Given the description of an element on the screen output the (x, y) to click on. 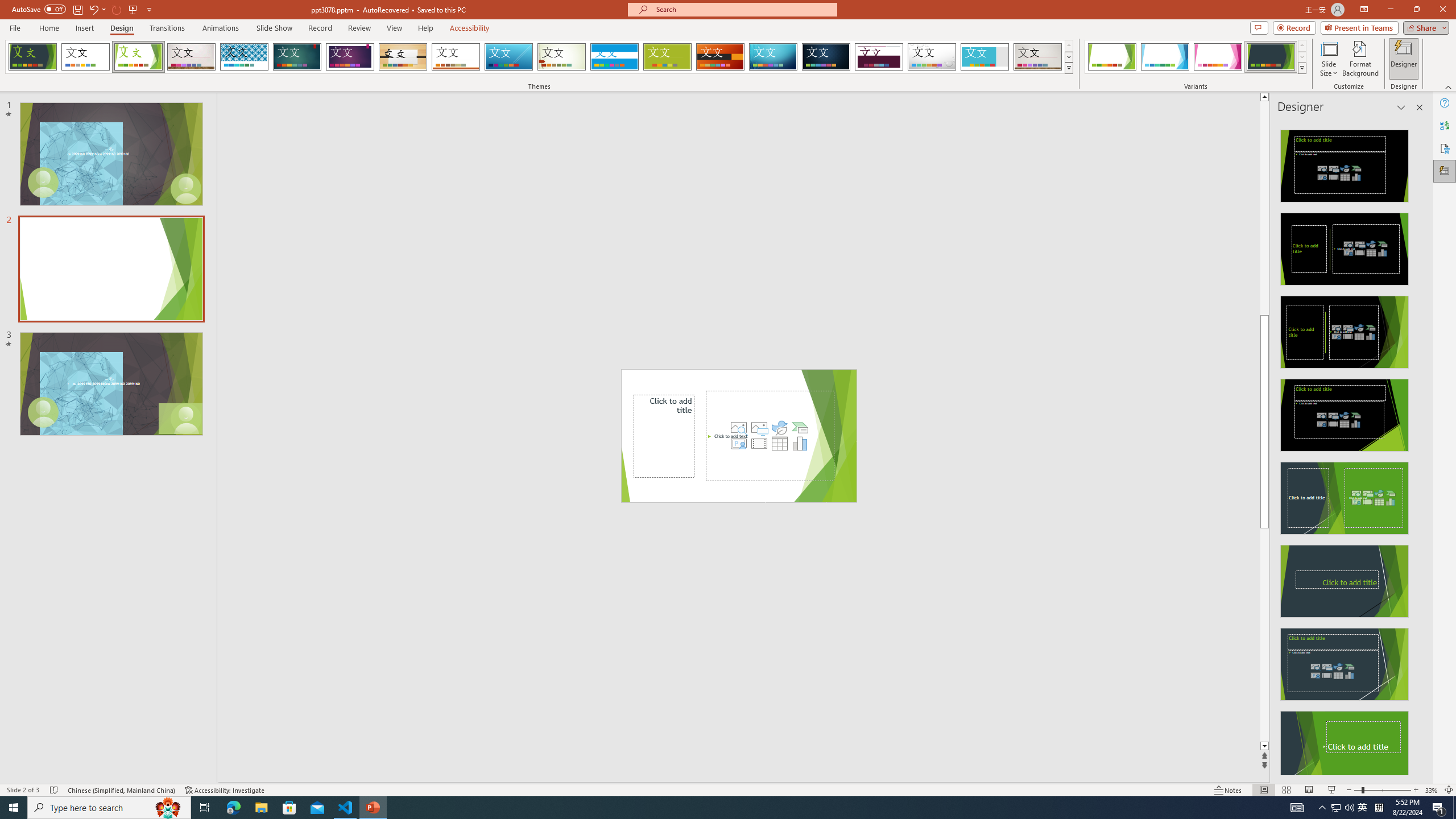
Ion (296, 56)
Insert an Icon (779, 427)
Stock Images (738, 427)
Wisp (561, 56)
Content Placeholder (770, 435)
Banded (614, 56)
Gallery (1037, 56)
Organic (403, 56)
Insert a SmartArt Graphic (799, 427)
